Given the description of an element on the screen output the (x, y) to click on. 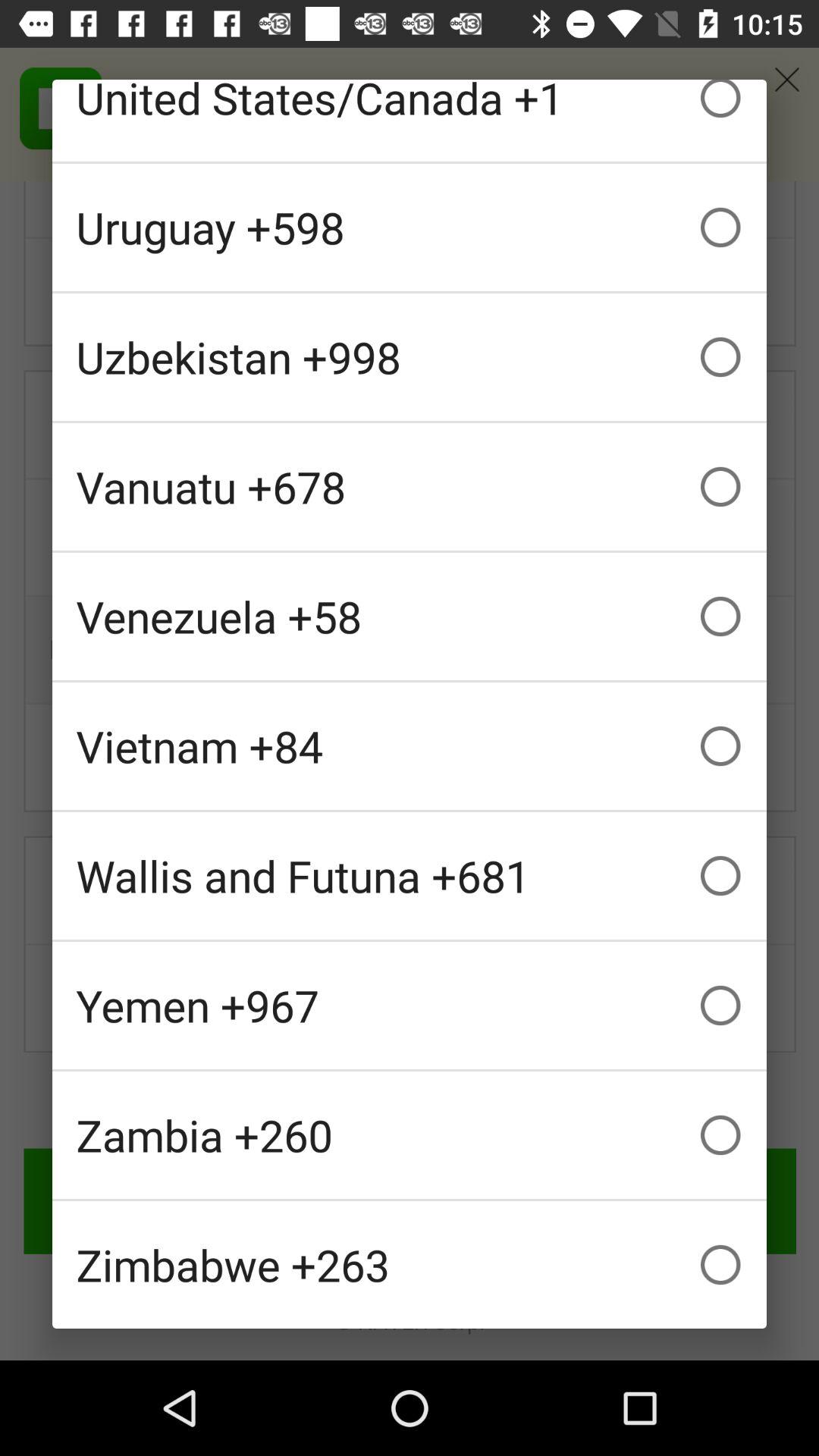
jump until the wallis and futuna (409, 875)
